Given the description of an element on the screen output the (x, y) to click on. 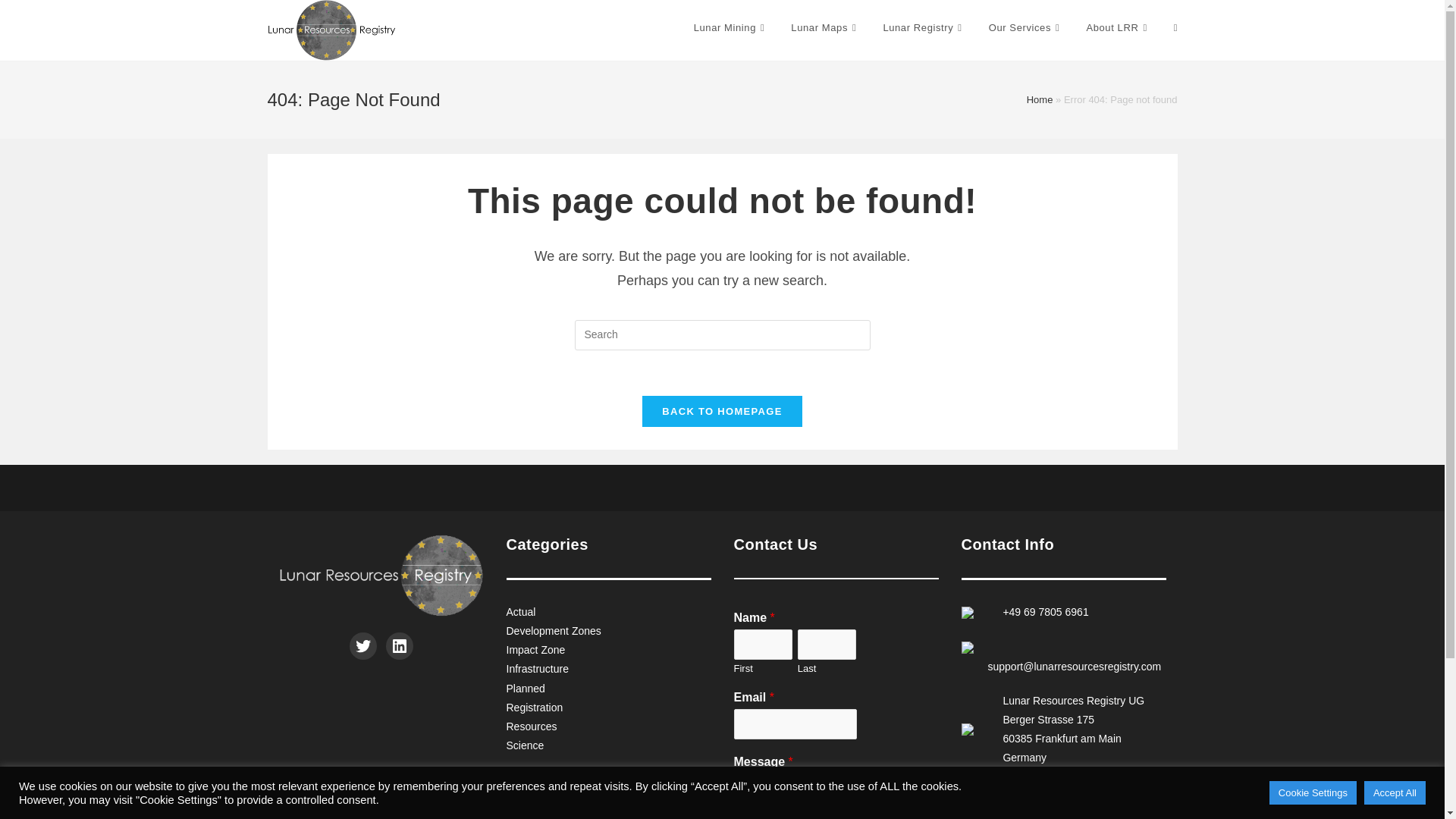
Lunar Maps (824, 28)
Lunar Mining (731, 28)
Lunar Registry (923, 28)
